Given the description of an element on the screen output the (x, y) to click on. 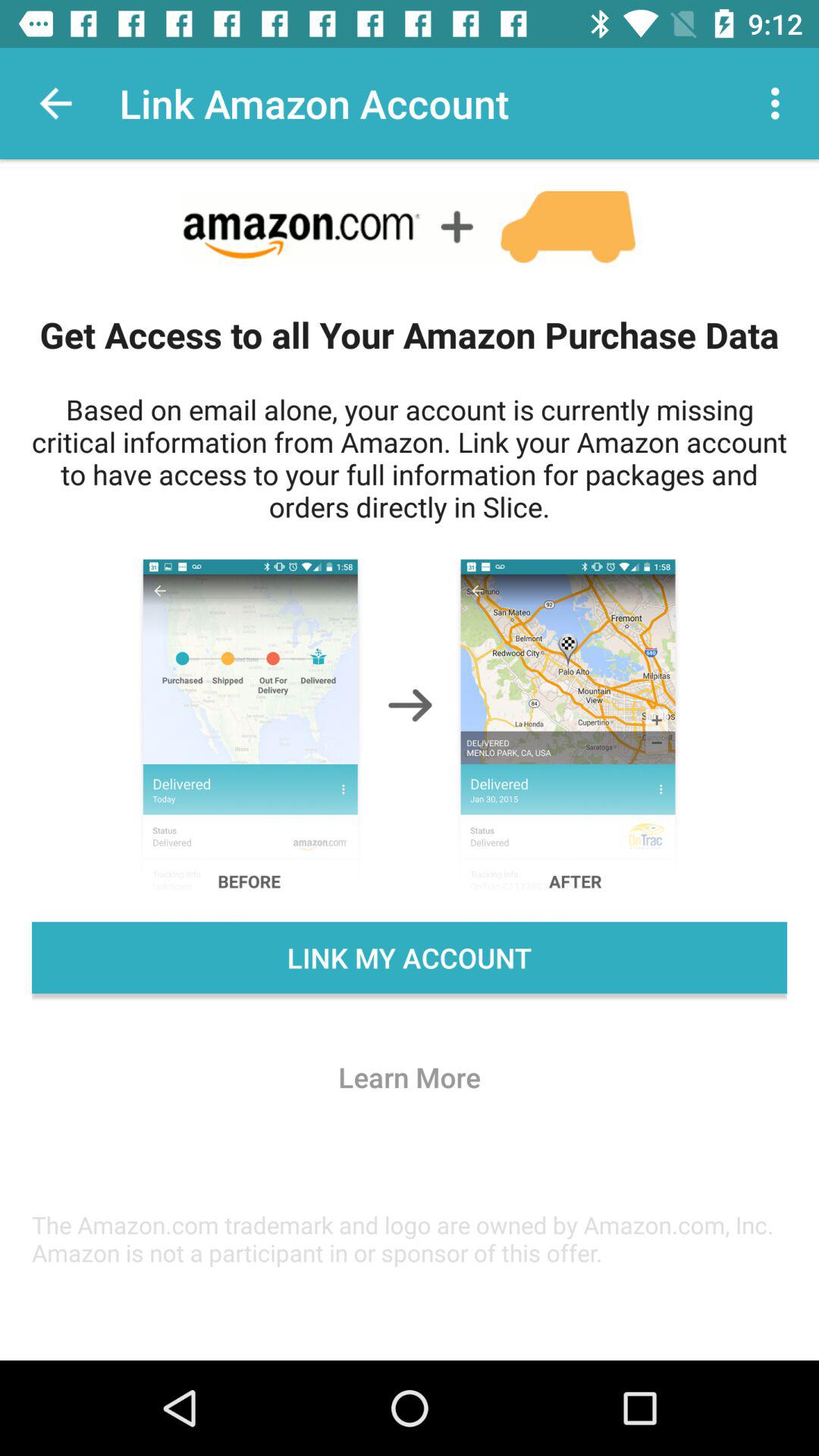
launch icon above get access to (779, 103)
